Given the description of an element on the screen output the (x, y) to click on. 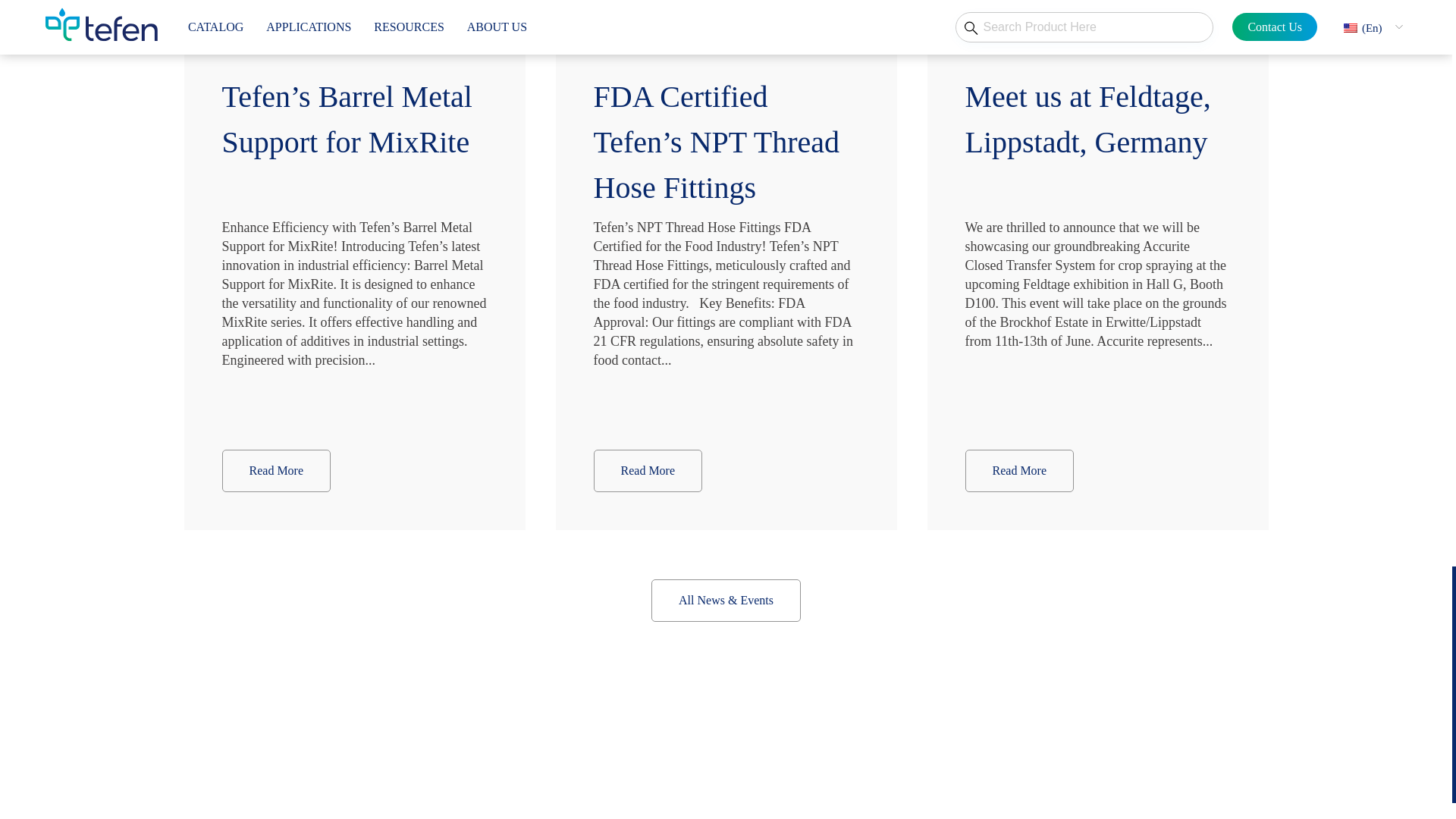
Read More (1018, 470)
Meet us at Feldtage, Lippstadt, Germany (1097, 127)
Read More (646, 470)
Read More (275, 470)
